Given the description of an element on the screen output the (x, y) to click on. 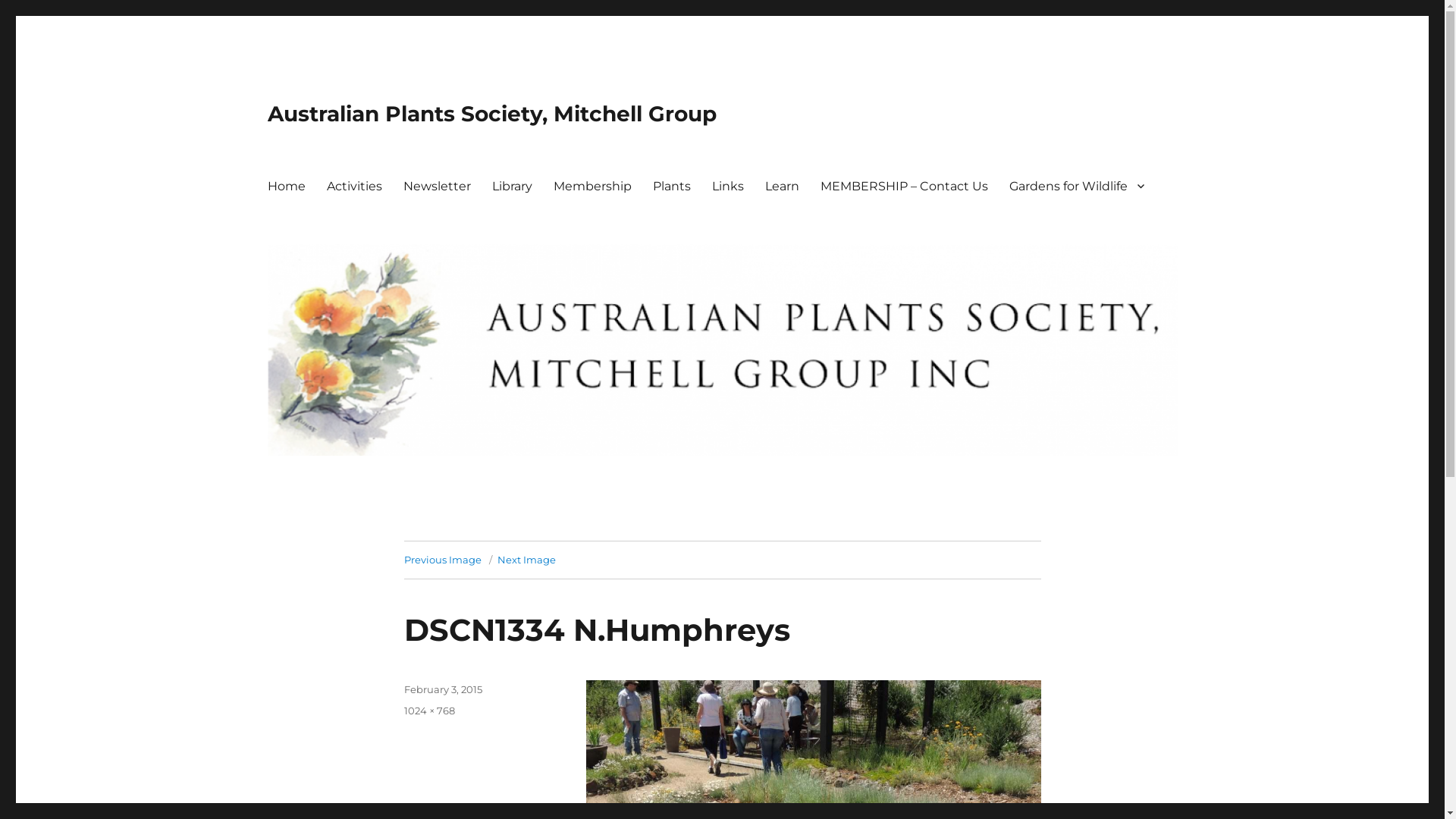
Australian Plants Society, Mitchell Group Element type: text (490, 113)
Plants Element type: text (670, 185)
Next Image Element type: text (526, 559)
Library Element type: text (511, 185)
February 3, 2015 Element type: text (442, 689)
Newsletter Element type: text (436, 185)
Gardens for Wildlife Element type: text (1075, 185)
Learn Element type: text (781, 185)
Links Element type: text (726, 185)
Membership Element type: text (592, 185)
Previous Image Element type: text (441, 559)
Activities Element type: text (353, 185)
Home Element type: text (285, 185)
